Given the description of an element on the screen output the (x, y) to click on. 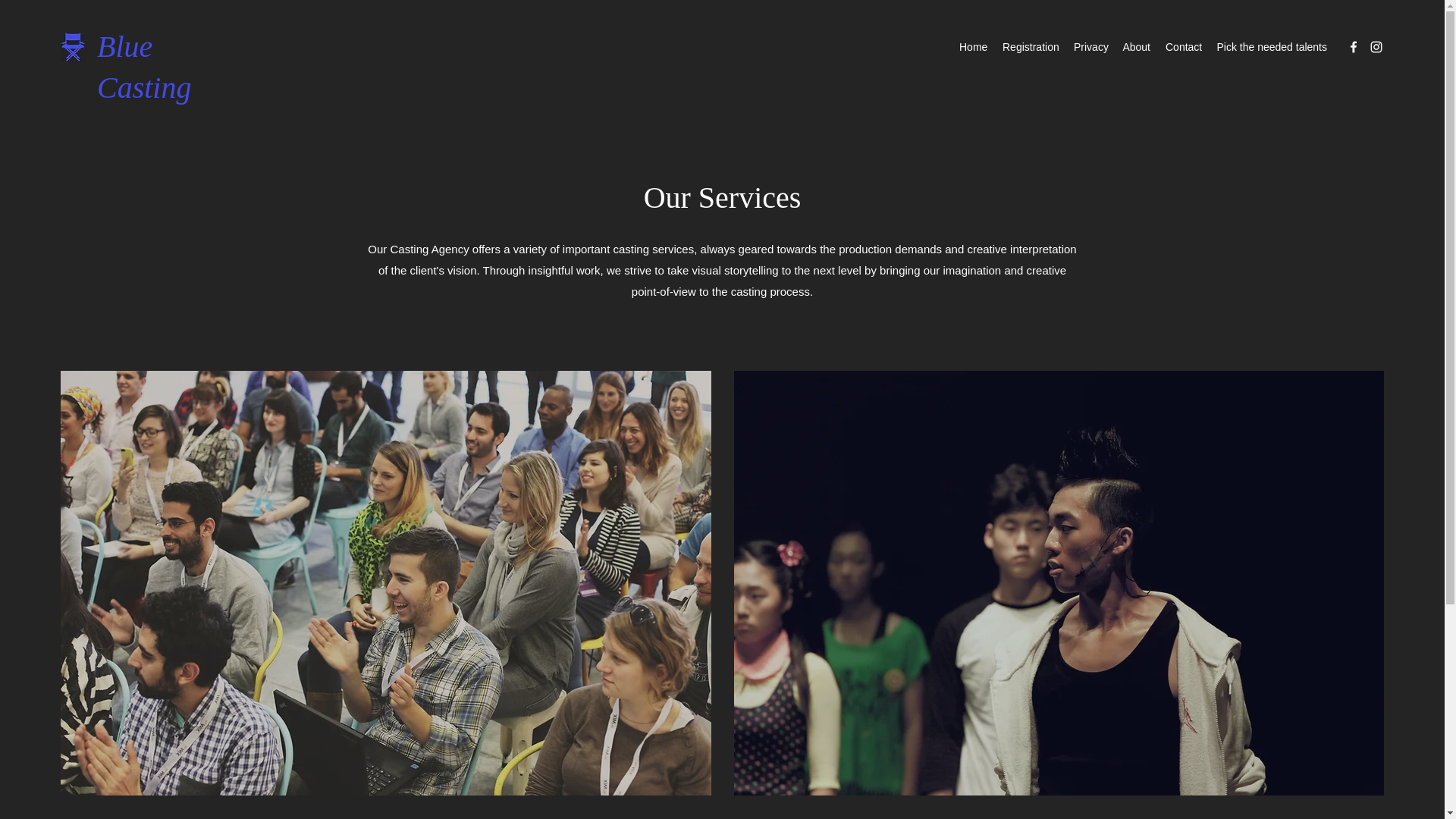
Blue Casting (143, 66)
Pick the needed talents (1271, 47)
About (1136, 47)
Registration (1029, 47)
Contact (1182, 47)
Home (973, 47)
Privacy (1090, 47)
